Given the description of an element on the screen output the (x, y) to click on. 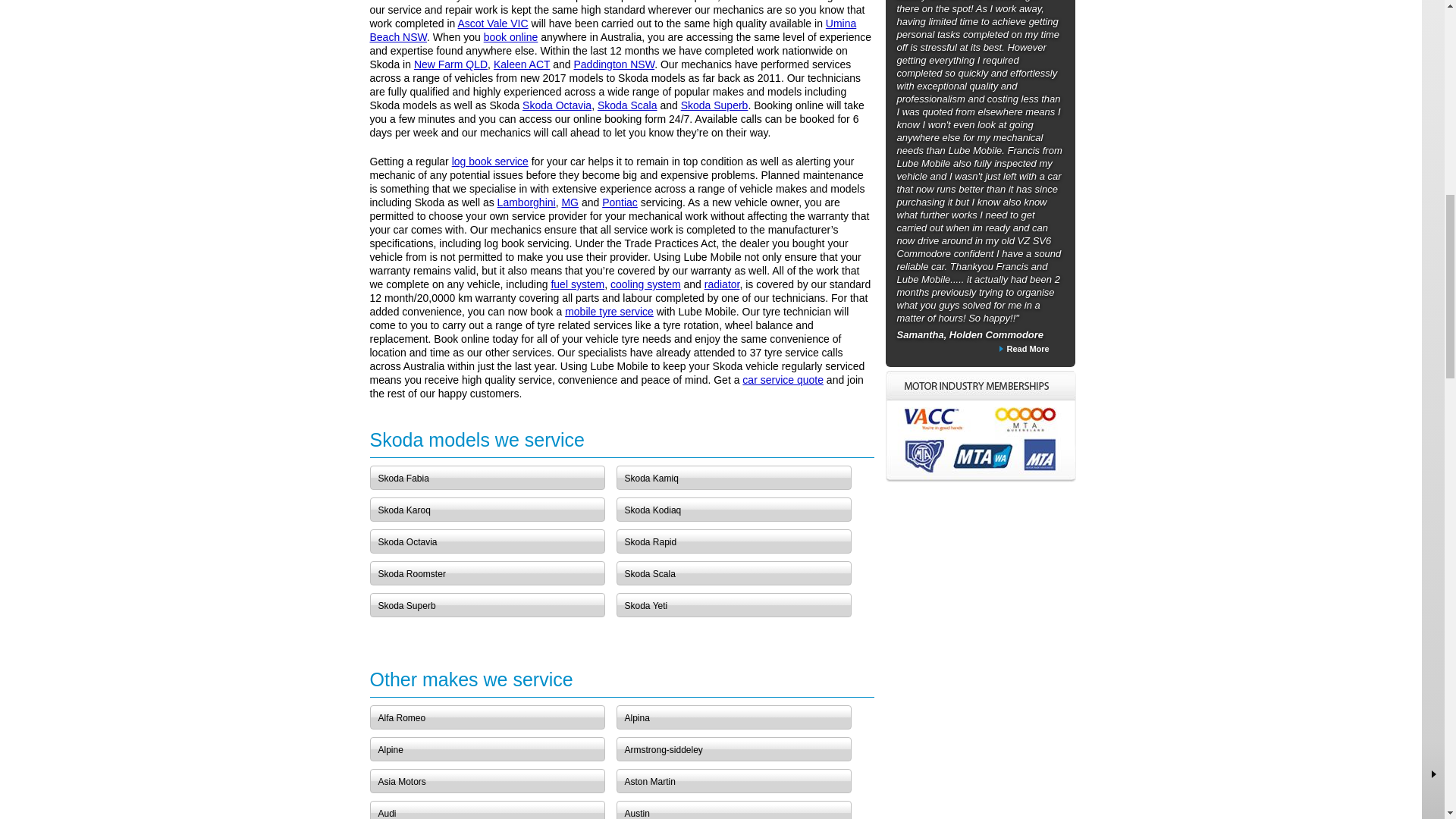
Umina Beach NSW (613, 30)
Kaleen ACT (521, 64)
Ascot Vale VIC (492, 23)
Skoda Superb (714, 105)
Skoda Octavia (556, 105)
New Farm QLD (450, 64)
book online (510, 37)
Skoda Scala (627, 105)
Paddington NSW (613, 64)
